Given the description of an element on the screen output the (x, y) to click on. 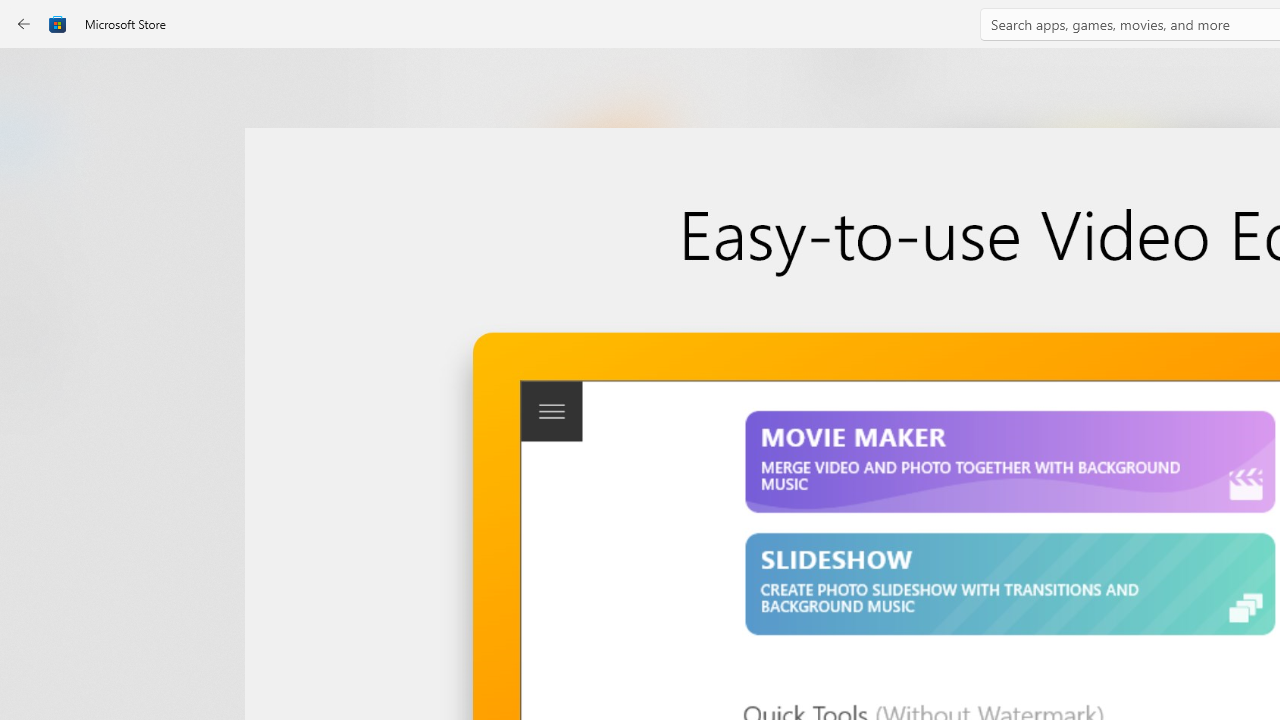
Entertainment (35, 327)
AI Hub (35, 390)
Get (586, 424)
Arcade (35, 265)
4.3 stars. Click to skip to ratings and reviews (542, 556)
Gaming (35, 203)
Mixilab (586, 333)
Back (24, 24)
Apps (35, 141)
Home (35, 79)
Class: Image (58, 24)
